Given the description of an element on the screen output the (x, y) to click on. 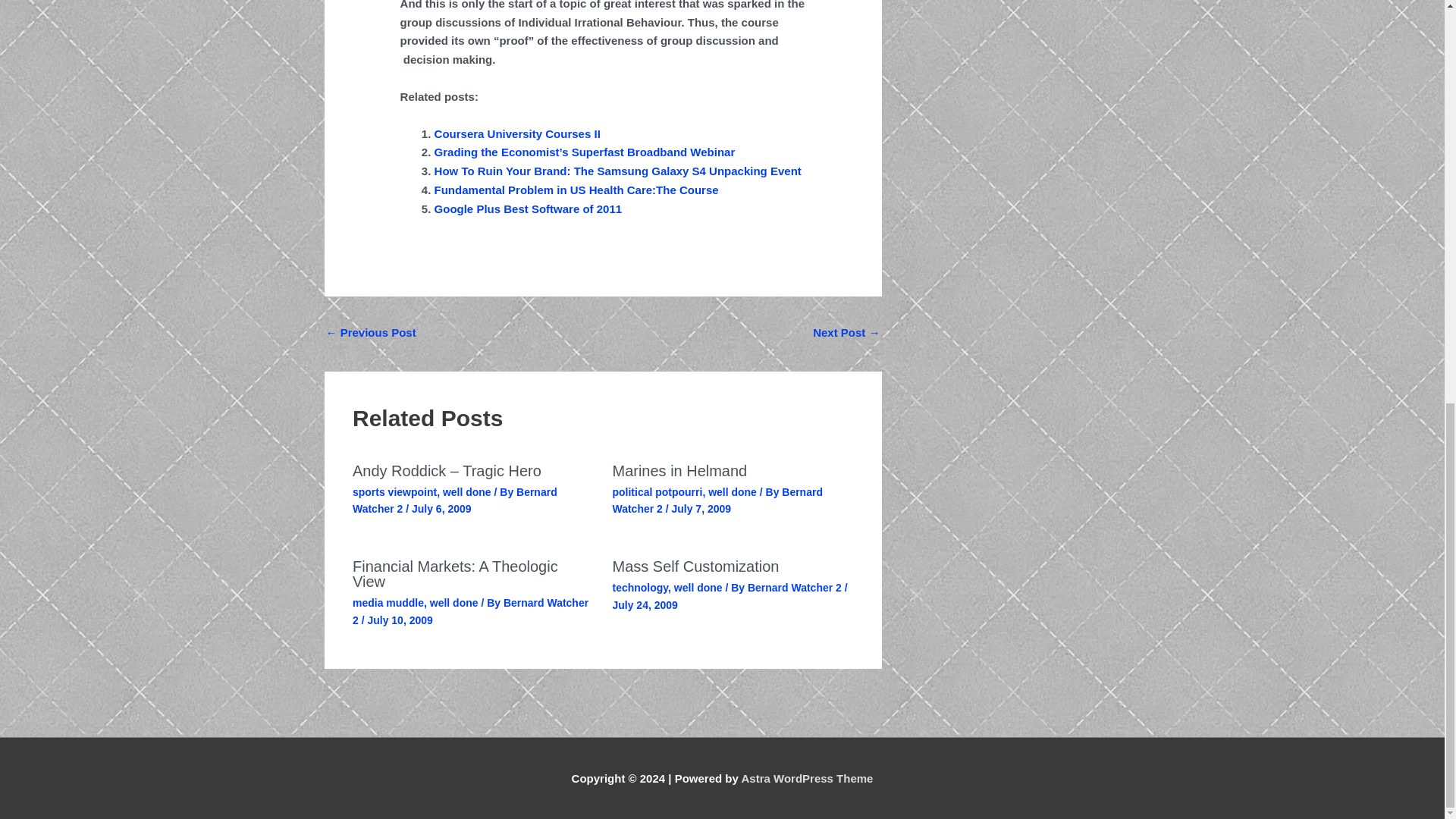
View all posts by Bernard Watcher 2 (717, 500)
View all posts by Bernard Watcher 2 (454, 500)
View all posts by Bernard Watcher 2 (796, 587)
Brenda Says Hello (845, 334)
View all posts by Bernard Watcher 2 (470, 611)
Coursera University Courses II (516, 133)
Fundamental Problem in US Health Care:The Course (576, 189)
Cracks in the  GOP's Base  (371, 334)
